Given the description of an element on the screen output the (x, y) to click on. 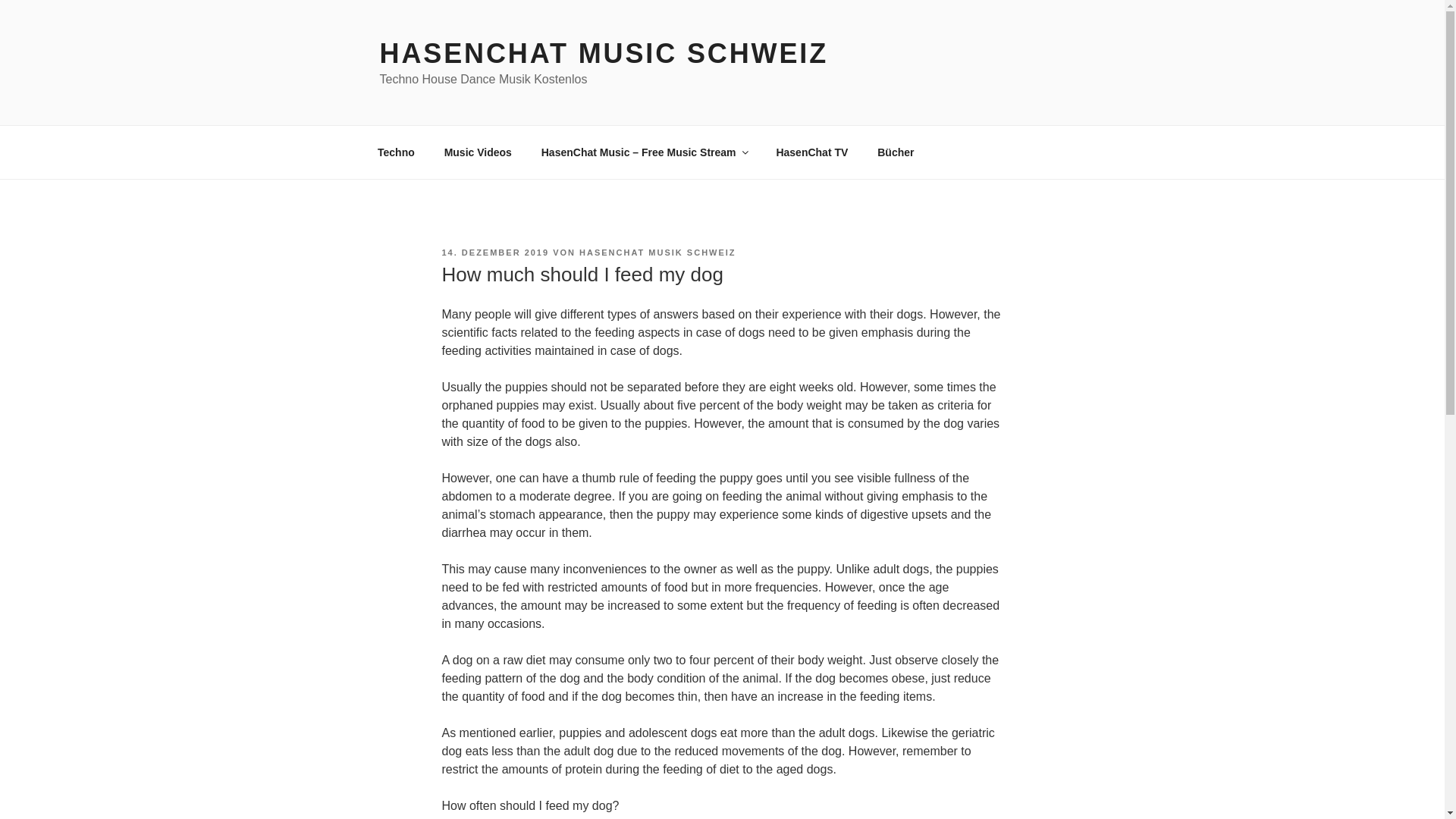
14. DEZEMBER 2019 (494, 252)
Techno (396, 151)
HASENCHAT MUSIK SCHWEIZ (657, 252)
HasenChat TV (811, 151)
Music Videos (477, 151)
HASENCHAT MUSIC SCHWEIZ (603, 52)
